Given the description of an element on the screen output the (x, y) to click on. 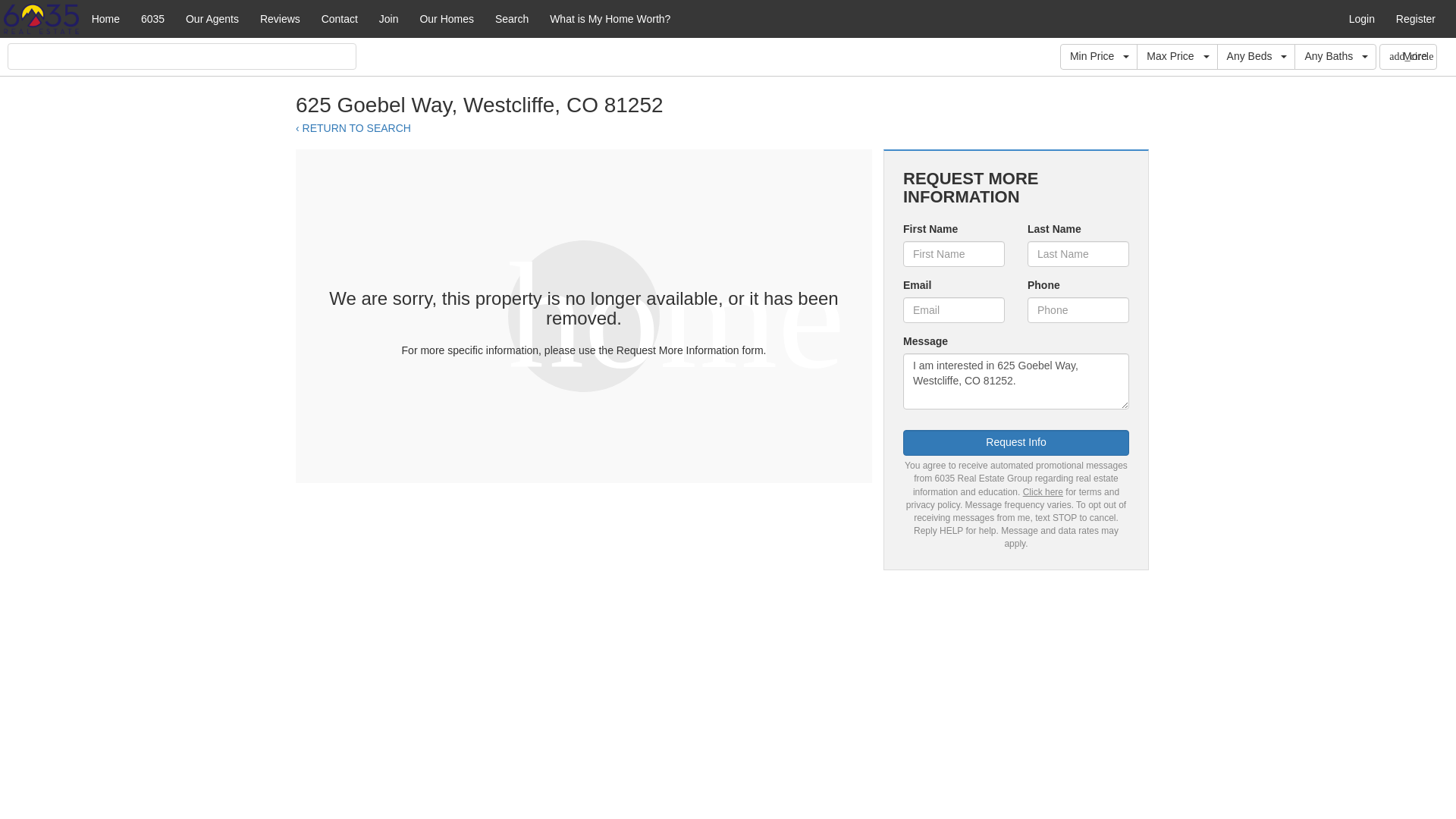
Join (388, 18)
What is My Home Worth? (609, 18)
Register (1415, 18)
6035 (152, 18)
Search (511, 18)
Login (1361, 18)
Our Homes (446, 18)
Home (105, 18)
Contact (339, 18)
Our Agents (211, 18)
Min Price (1098, 56)
Reviews (279, 18)
